Given the description of an element on the screen output the (x, y) to click on. 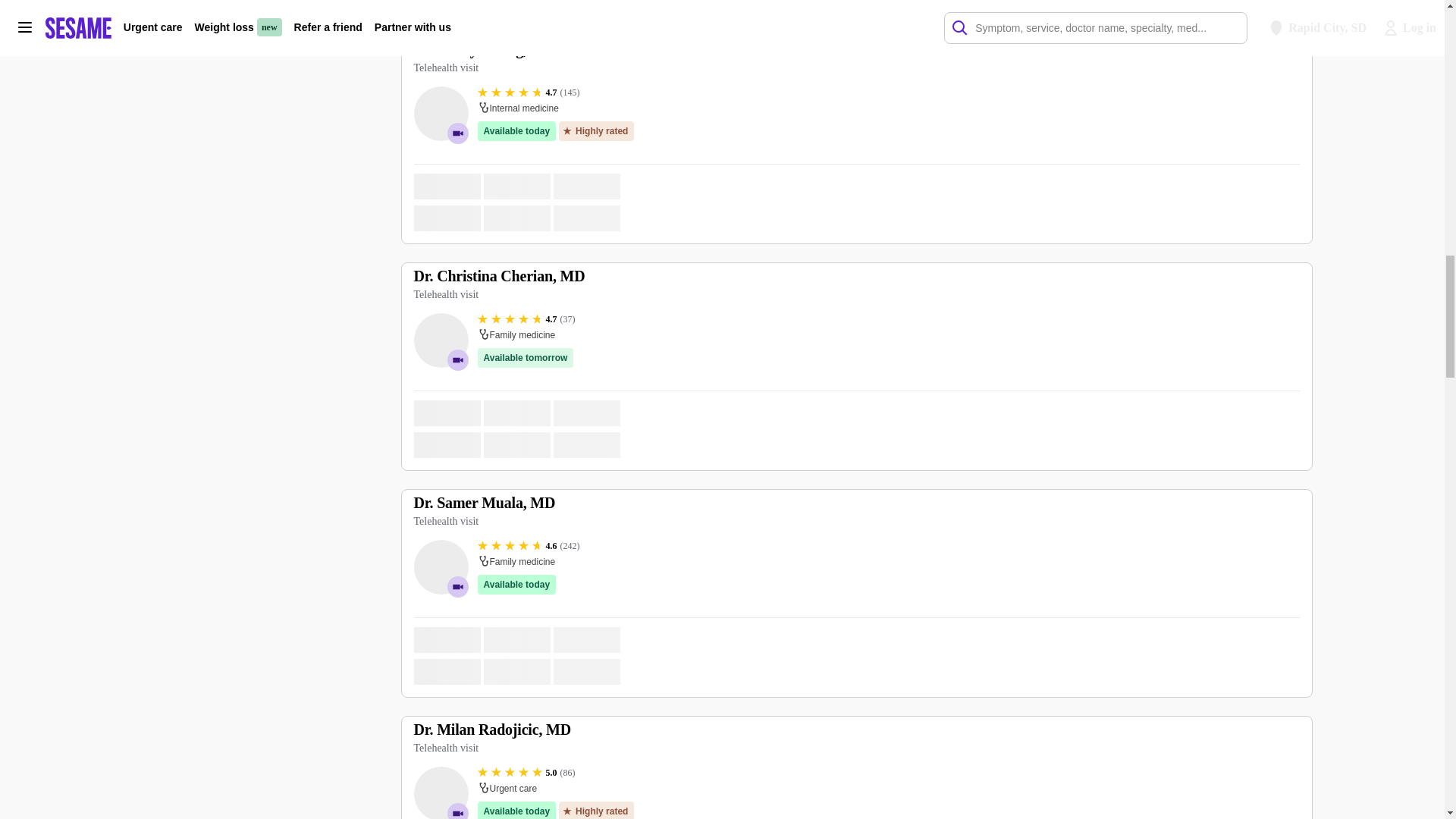
This provider has an overall rating of 4.7 out of 5 stars. (528, 92)
This provider has an overall rating of 4.7 out of 5 stars. (526, 318)
This provider has an overall rating of 4.6 out of 5 stars. (528, 545)
This provider has an overall rating of 5.0 out of 5 stars. (526, 772)
